Given the description of an element on the screen output the (x, y) to click on. 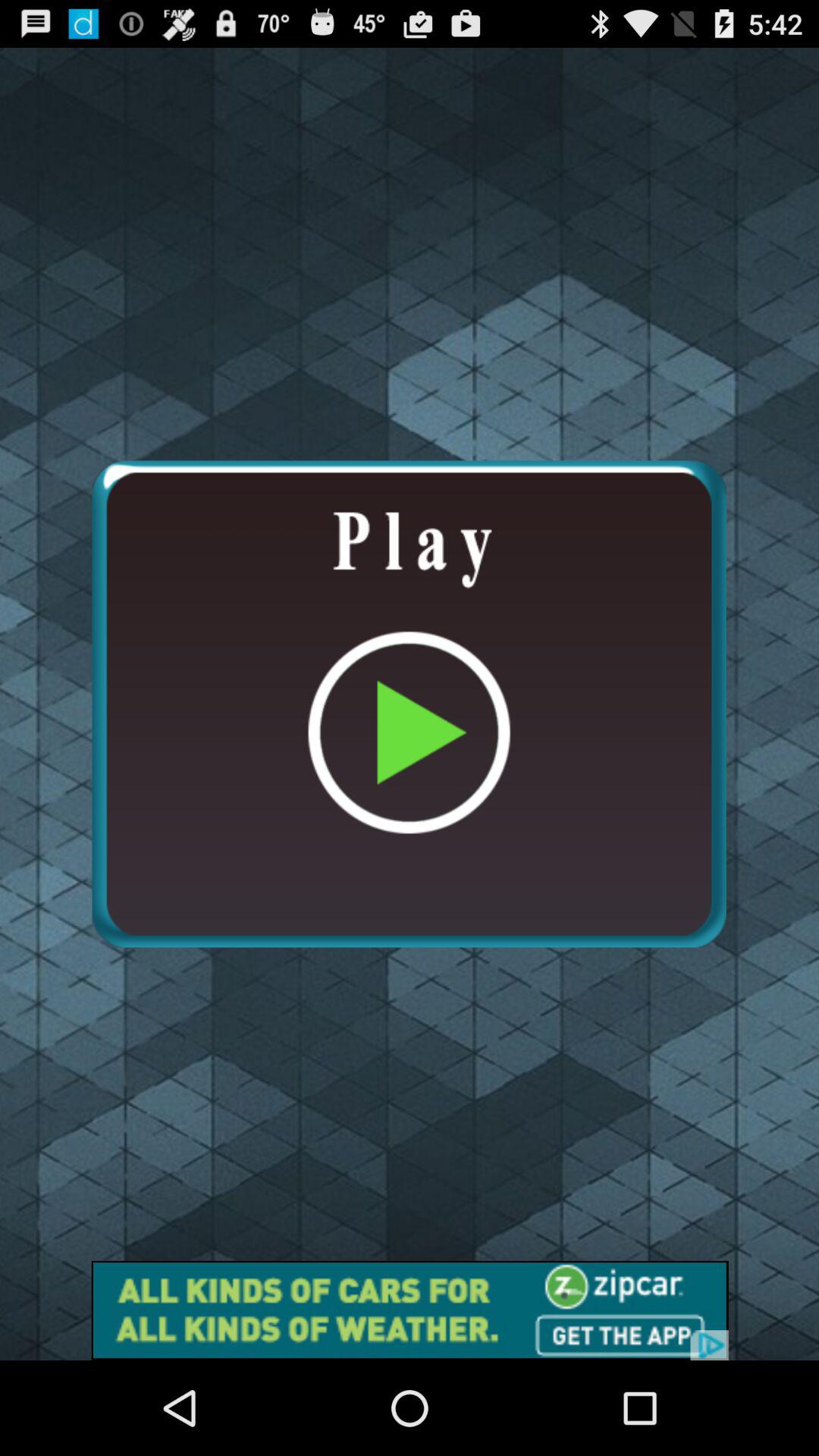
toggle play (409, 703)
